Given the description of an element on the screen output the (x, y) to click on. 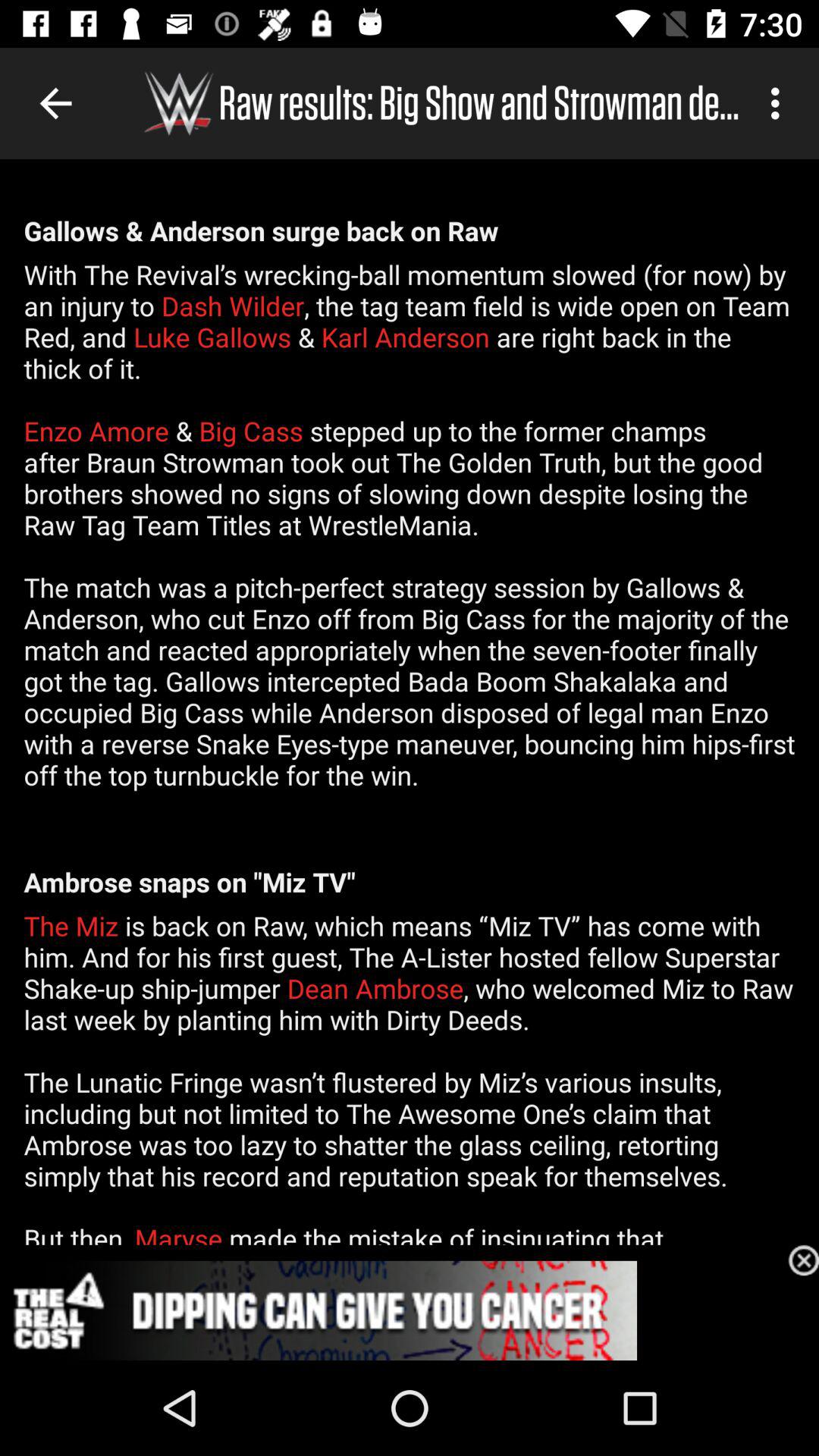
advertisement (409, 1310)
